Given the description of an element on the screen output the (x, y) to click on. 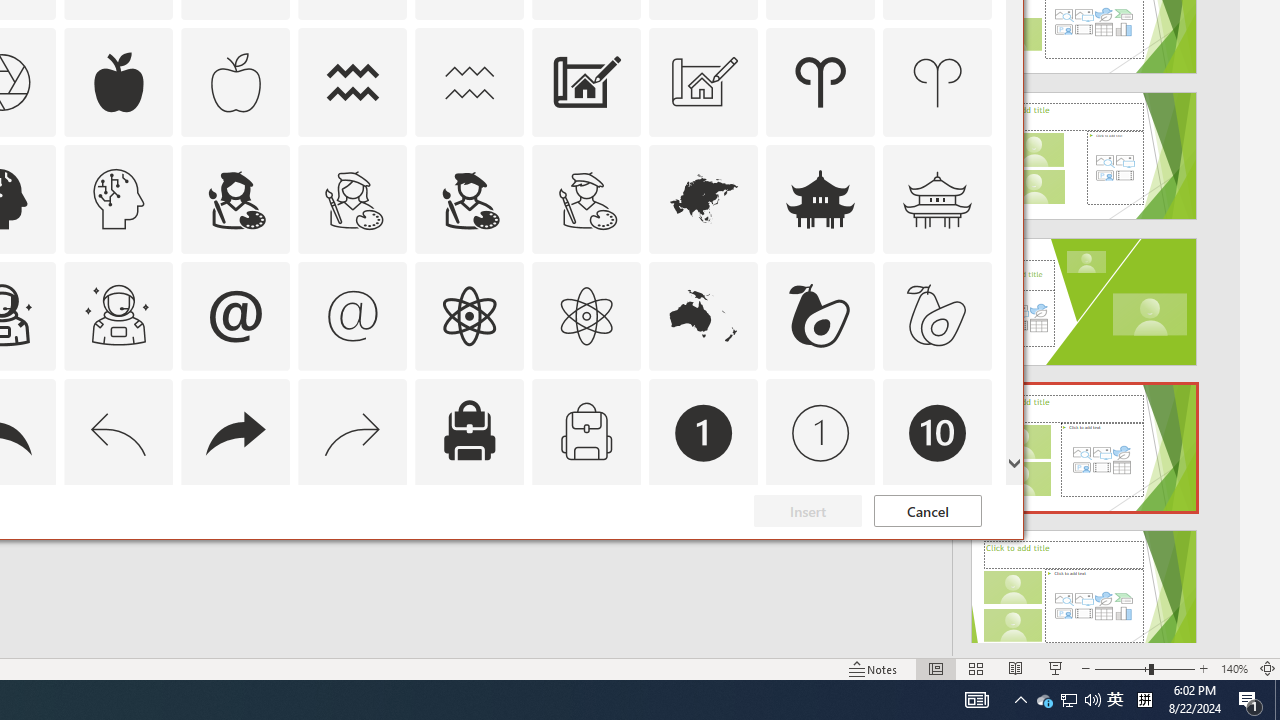
AutomationID: Icons_Back_RTL (235, 432)
AutomationID: Icons_Badge9 (820, 550)
AutomationID: Icons_Badge1 (703, 432)
AutomationID: Icons_Australia (1044, 699)
AutomationID: Icons_ArtistMale_M (703, 316)
AutomationID: Icons (586, 198)
AutomationID: Icons_Back_RTL_M (937, 550)
